Given the description of an element on the screen output the (x, y) to click on. 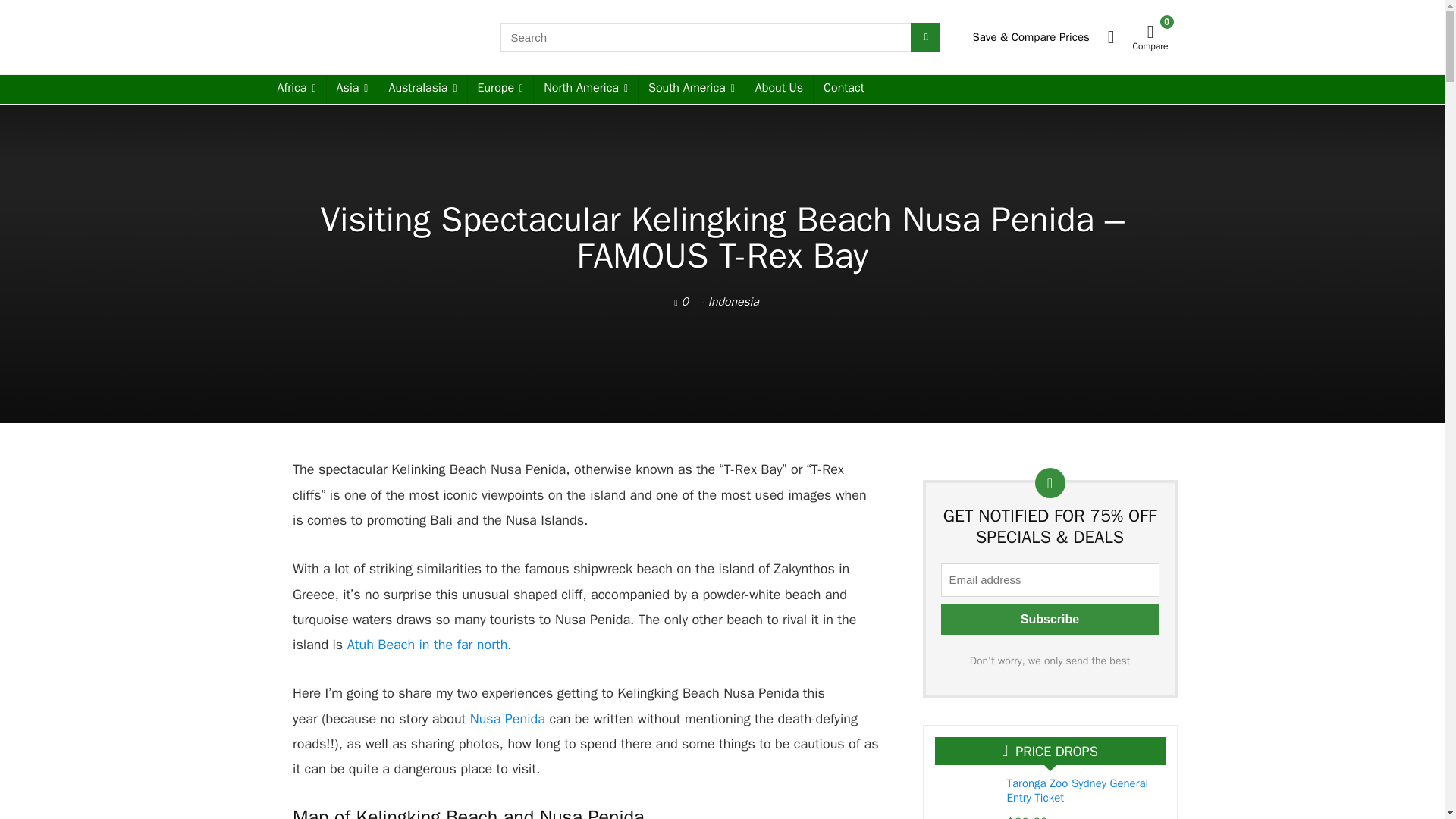
View all posts in Indonesia (732, 301)
North America (585, 89)
South America (691, 89)
Subscribe (1049, 619)
Africa (295, 89)
klook.com (1152, 817)
Australasia (421, 89)
Asia (352, 89)
Europe (500, 89)
